Given the description of an element on the screen output the (x, y) to click on. 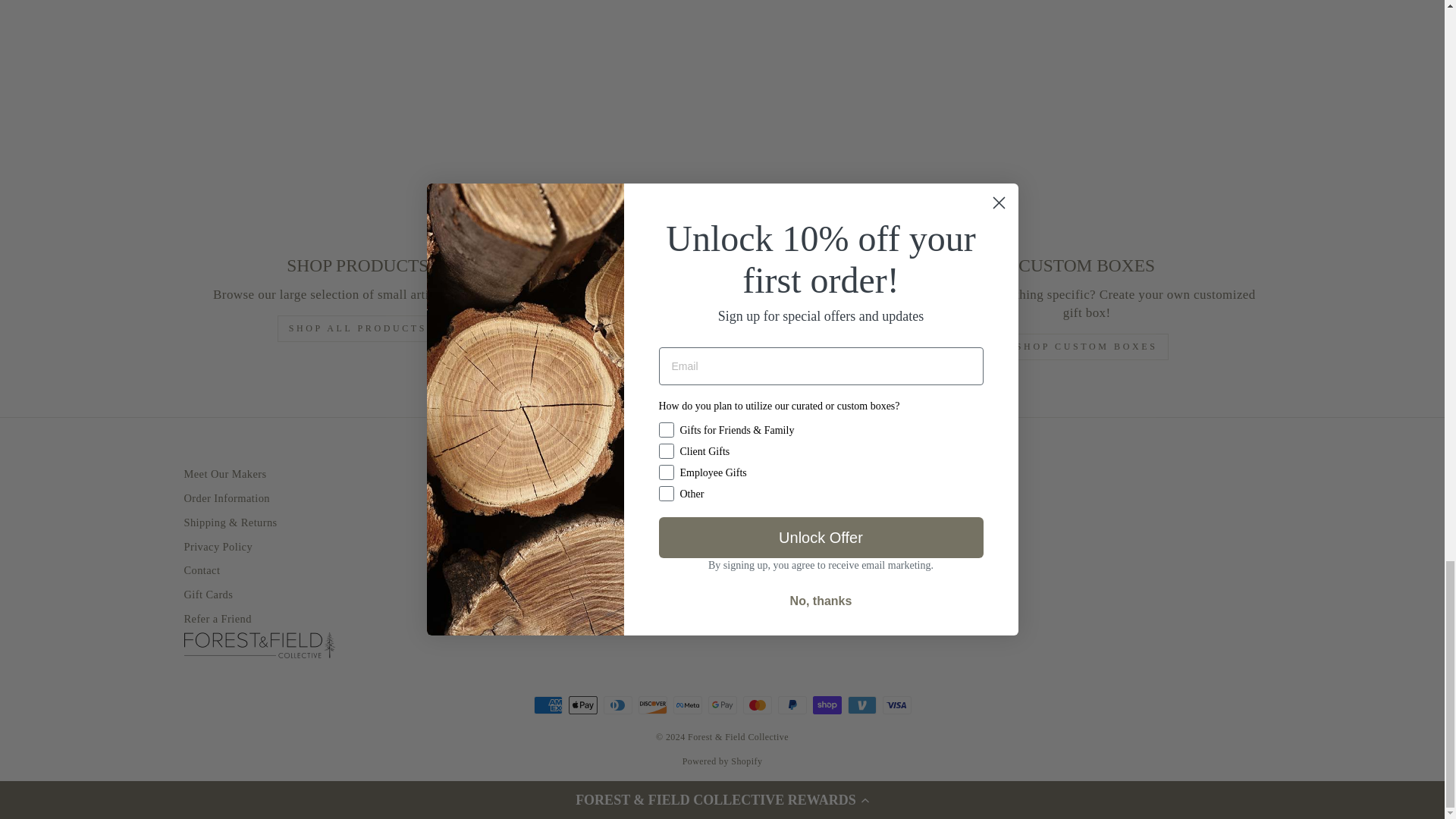
Diners Club (617, 705)
Apple Pay (582, 705)
Venmo (861, 705)
Discover (652, 705)
Meta Pay (686, 705)
American Express (548, 705)
Shop Pay (826, 705)
Google Pay (721, 705)
Mastercard (756, 705)
PayPal (791, 705)
